Given the description of an element on the screen output the (x, y) to click on. 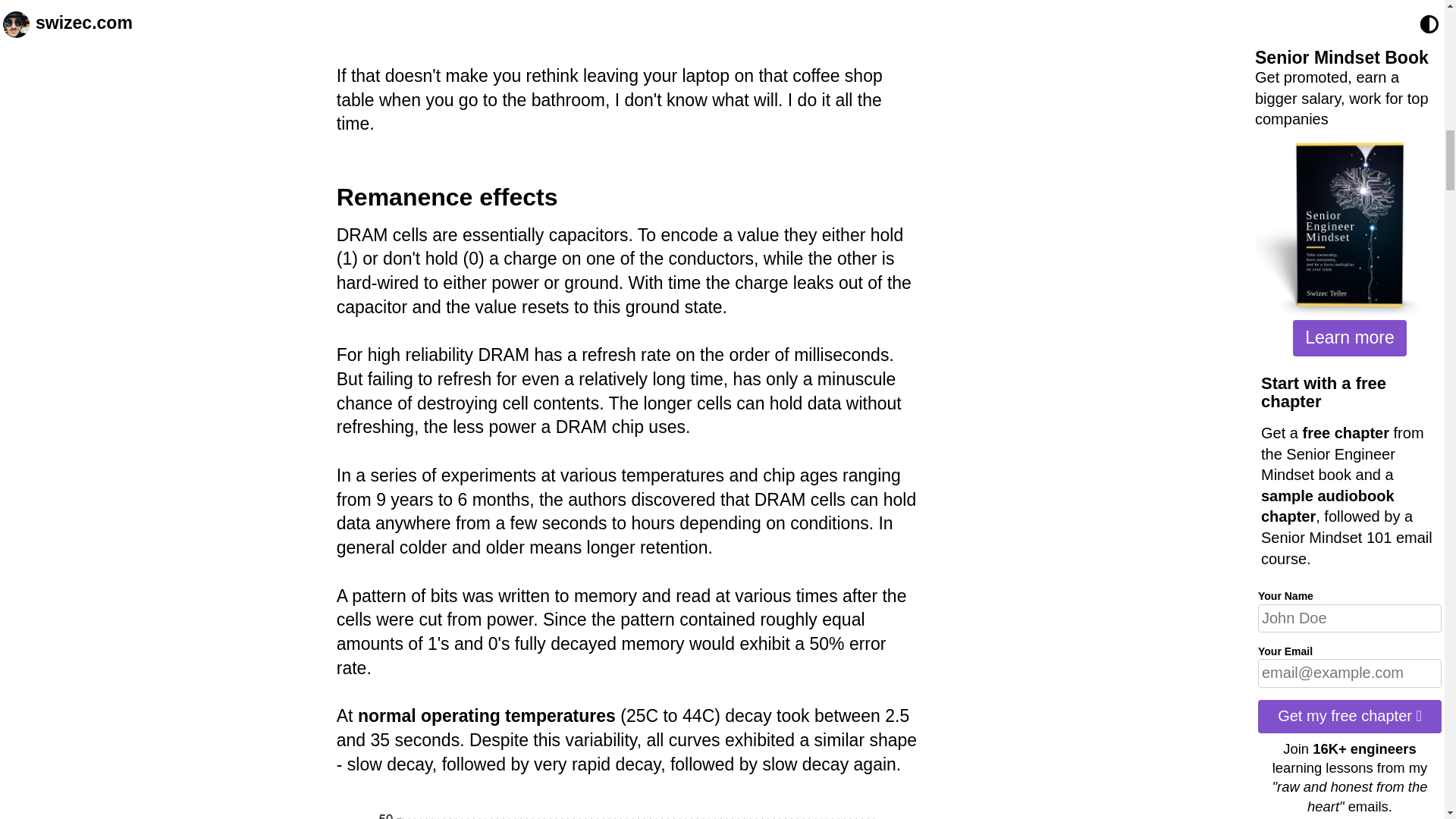
Decay at operating temperatures (627, 809)
Remanence effects (446, 196)
